Given the description of an element on the screen output the (x, y) to click on. 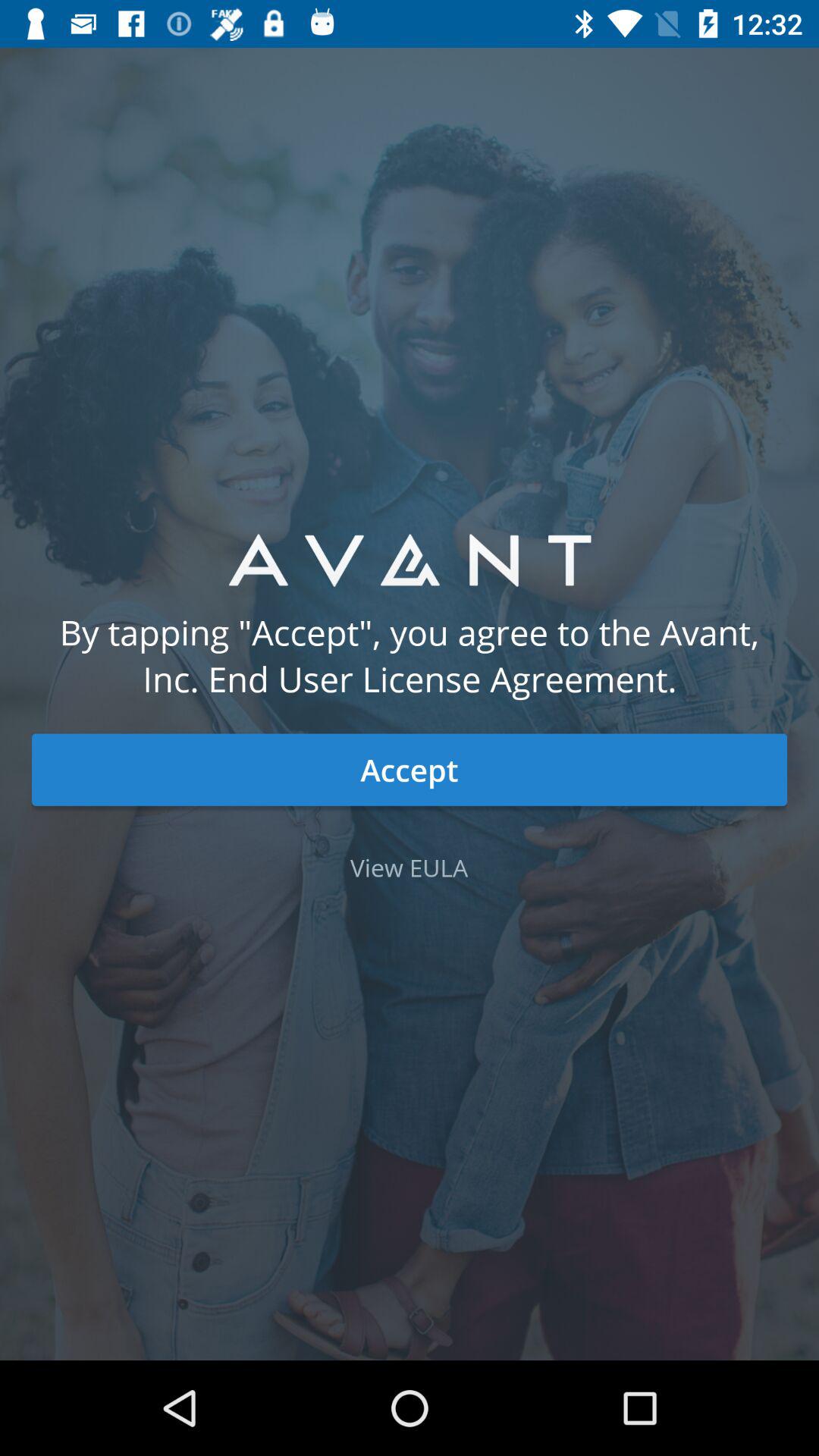
select the icon below accept (409, 867)
